Given the description of an element on the screen output the (x, y) to click on. 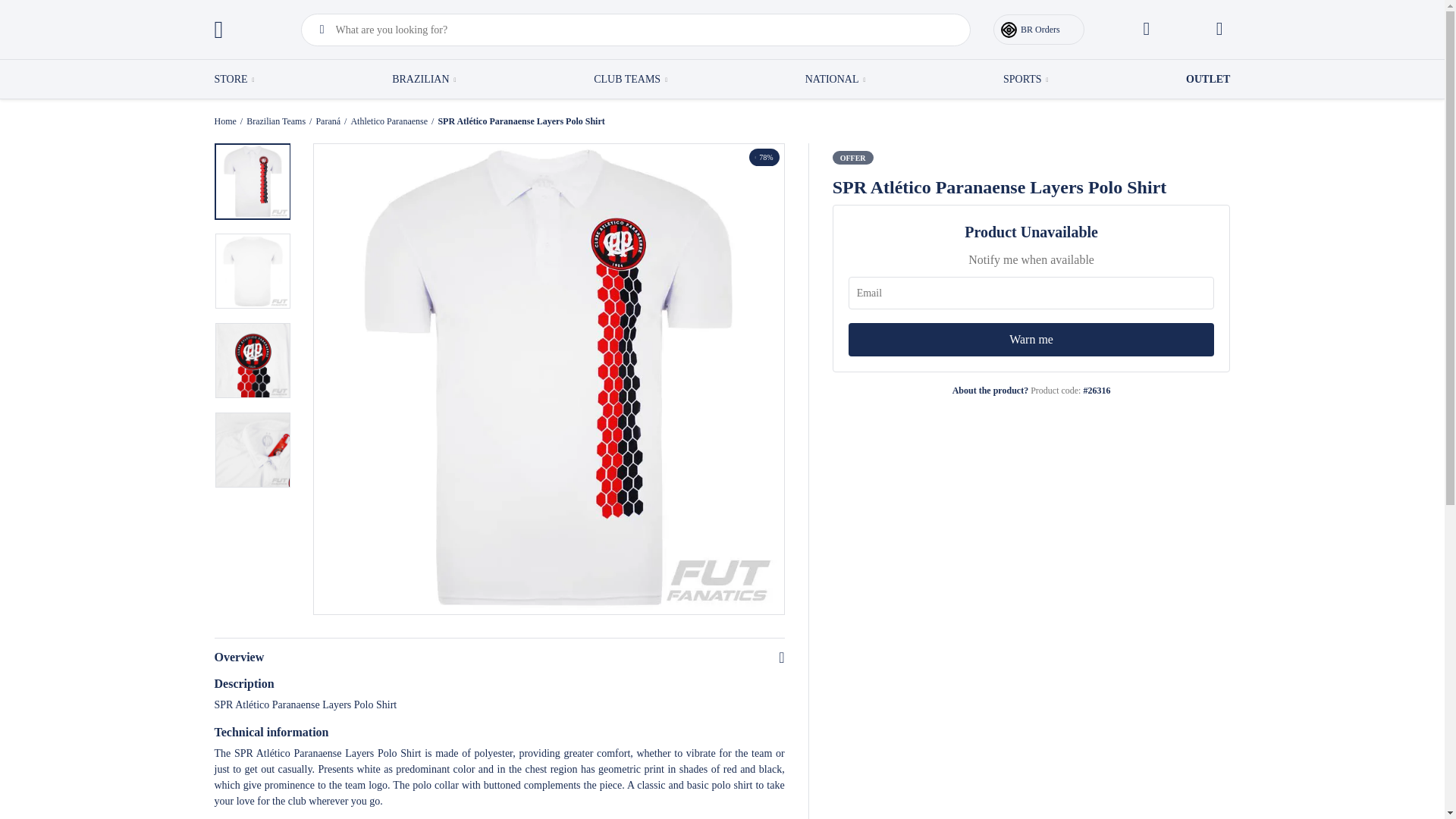
STORE (233, 78)
Athletico Paranaense (389, 121)
About the product? (989, 389)
BRAZILIAN (423, 78)
Brazilian Teams (275, 121)
BR Orders (1038, 29)
